Given the description of an element on the screen output the (x, y) to click on. 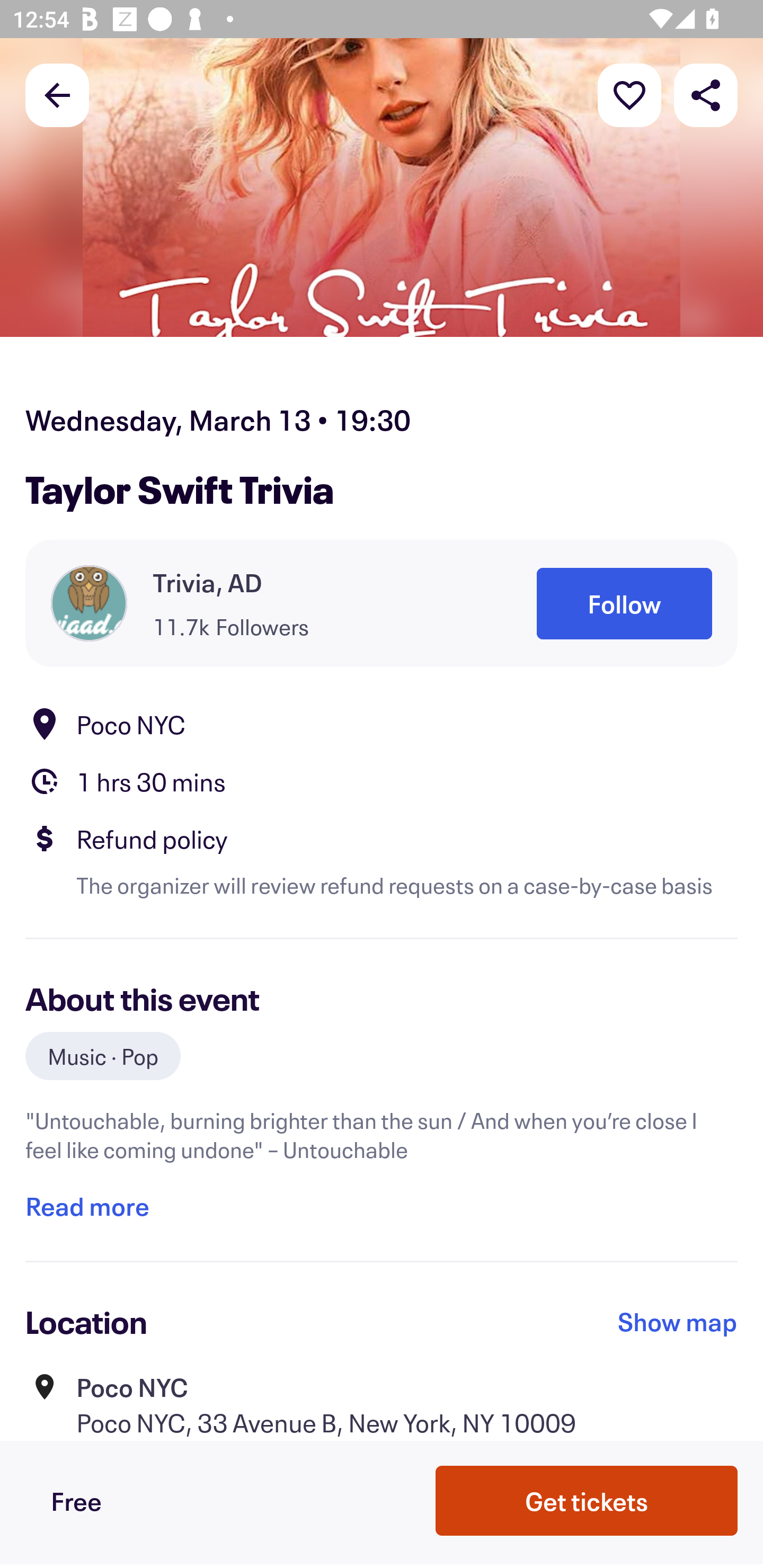
Back (57, 94)
More (629, 94)
Share (705, 94)
Trivia, AD (207, 582)
Organizer profile picture (89, 602)
Follow (623, 603)
Location Poco NYC (381, 724)
Read more (87, 1206)
Show map (677, 1321)
